Given the description of an element on the screen output the (x, y) to click on. 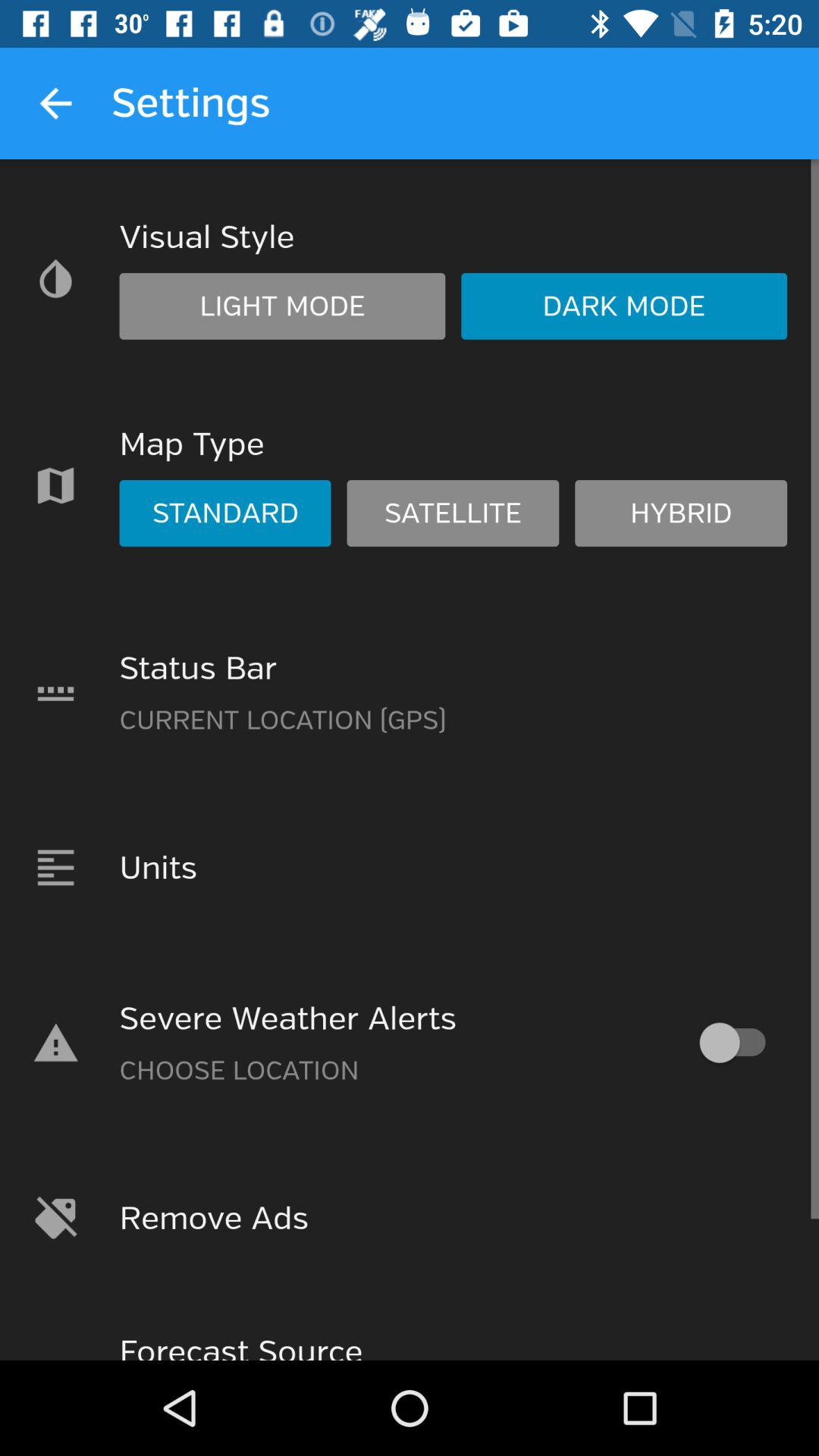
press item to the left of settings (55, 103)
